Given the description of an element on the screen output the (x, y) to click on. 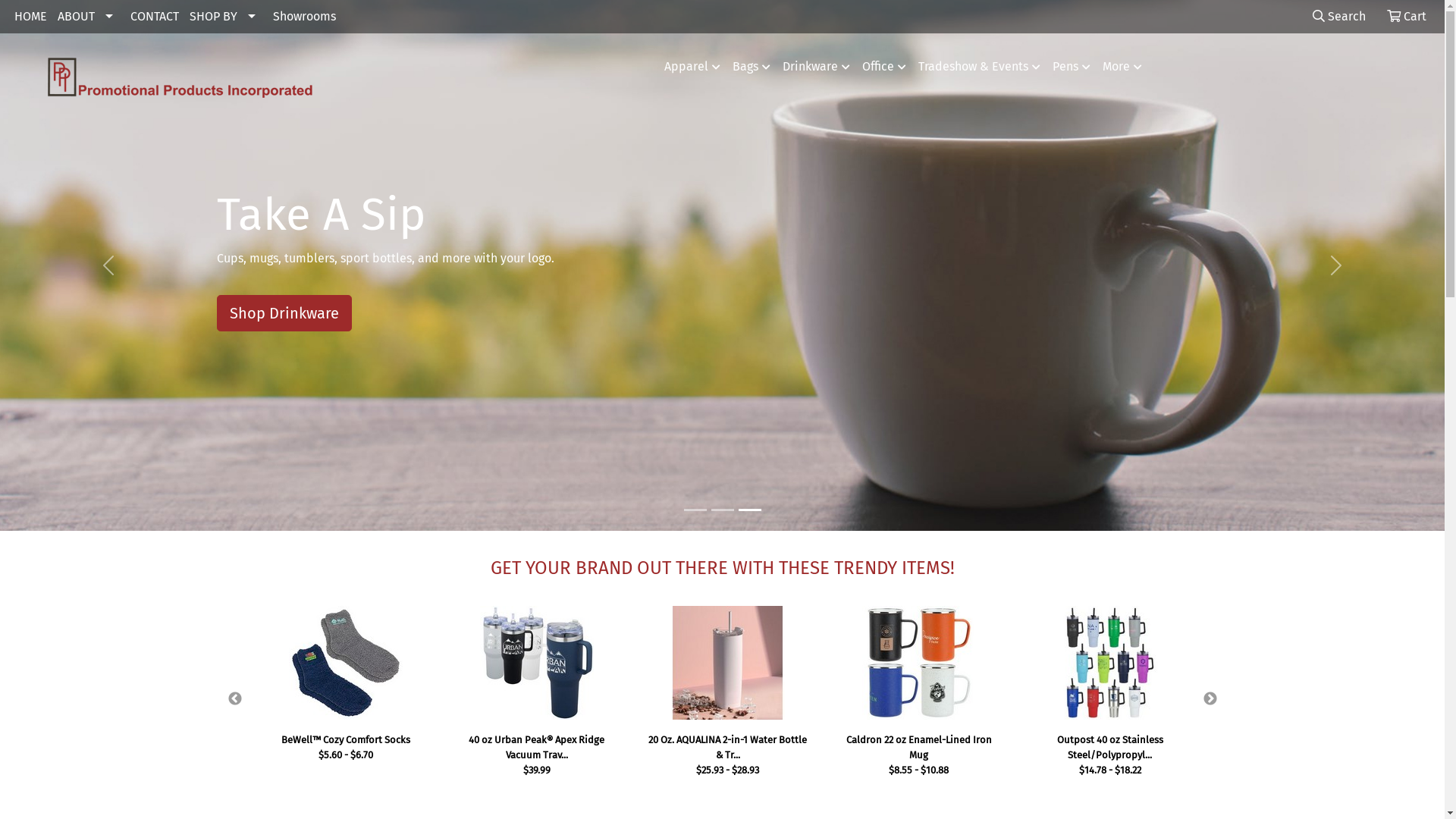
Drinkware Element type: text (816, 66)
SHOP BY Element type: text (225, 16)
Apparel Element type: text (692, 66)
ABOUT Element type: text (88, 16)
Office Element type: text (884, 66)
Next Element type: text (1335, 265)
Showrooms Element type: text (304, 16)
Bags Element type: text (751, 66)
More Element type: text (1122, 66)
Previous Element type: text (234, 698)
Search Element type: text (1339, 16)
Genoa 40 oz Vacuum Insulated Travel Mug ...
$26.15 - $30.75 Element type: text (918, 751)
CONTACT Element type: text (154, 16)
Cart Element type: text (1406, 16)
Pens Element type: text (1071, 66)
HOME Element type: text (30, 16)
Tradeshow & Events Element type: text (979, 66)
Shop Drinkware Element type: text (283, 312)
Next Element type: text (1209, 698)
Carhartt Gilliam Jacket
$292.96 - $297.12 Element type: text (536, 751)
Previous Element type: text (108, 265)
